Given the description of an element on the screen output the (x, y) to click on. 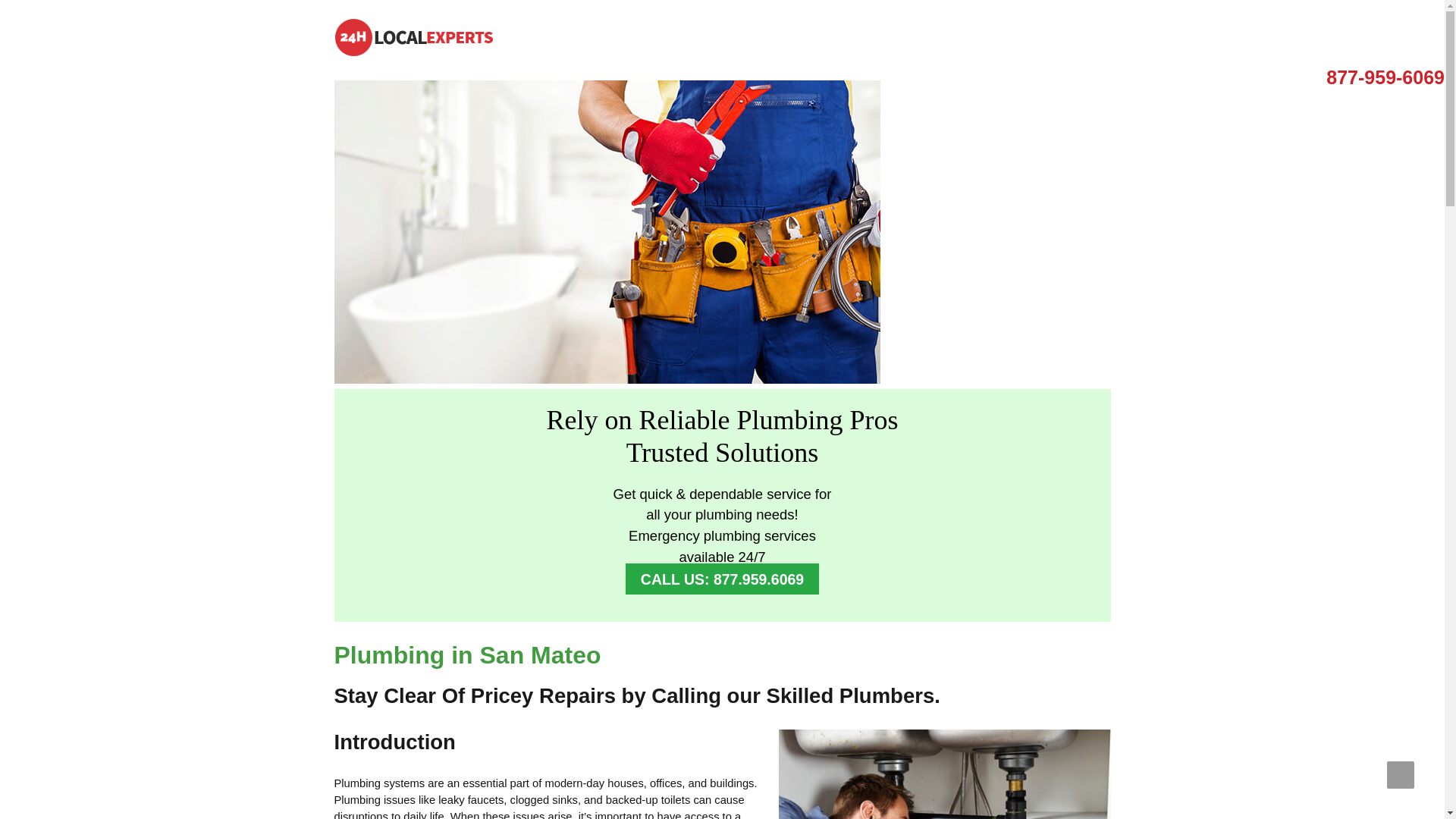
CALL US: 877.959.6069 (722, 579)
Back To Top (1400, 774)
Reliable Plumbing Pros (413, 51)
